Given the description of an element on the screen output the (x, y) to click on. 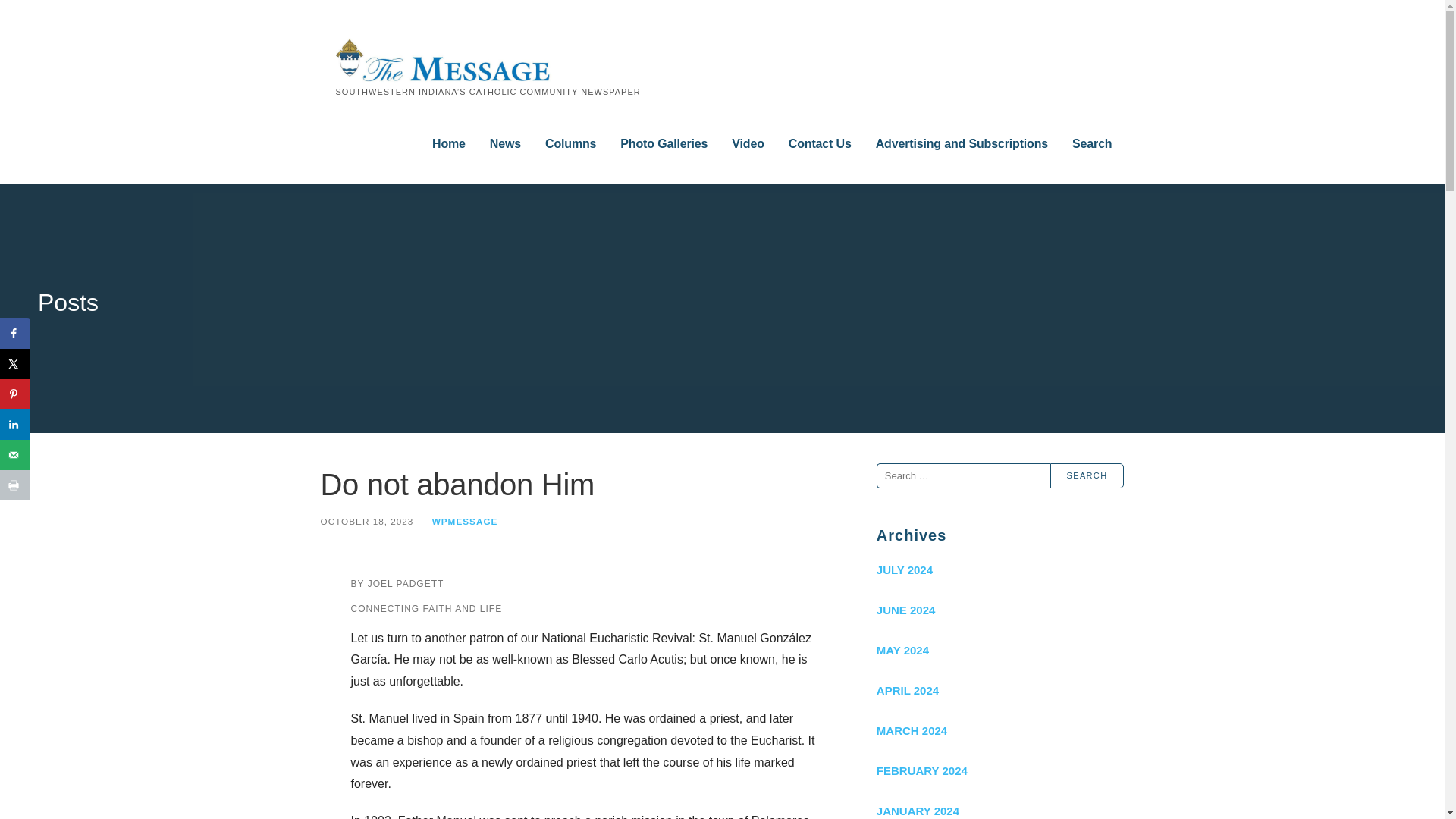
Share on X (15, 363)
Search (1086, 475)
WPMESSAGE (464, 521)
Columns (569, 144)
Photo Galleries (663, 144)
Send over email (15, 454)
Search (1091, 144)
Contact Us (820, 144)
Print this webpage (15, 485)
Search (1086, 475)
Video (747, 144)
Posts by wpmessage (464, 521)
News (505, 144)
Advertising and Subscriptions (962, 144)
Share on Facebook (15, 333)
